Given the description of an element on the screen output the (x, y) to click on. 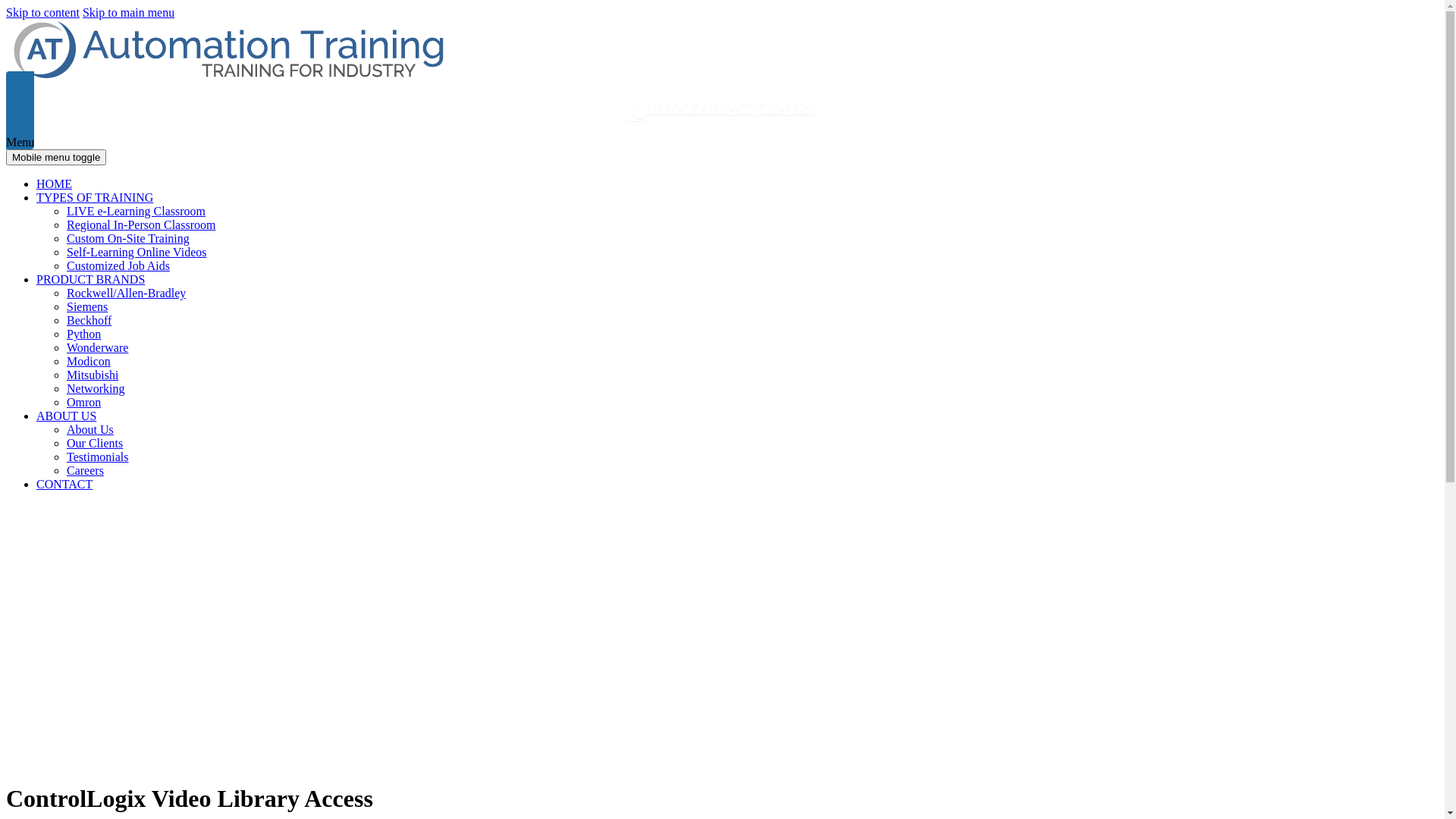
HOME Element type: text (54, 183)
LIVE e-Learning Classroom Element type: text (135, 210)
Python Element type: text (83, 333)
Self-Learning Online Videos Element type: text (136, 251)
Modicon Element type: text (88, 360)
Skip to main menu Element type: text (128, 12)
Customized Job Aids Element type: text (117, 265)
Custom On-Site Training Element type: text (127, 238)
Siemens Element type: text (86, 306)
Regional In-Person Classroom Element type: text (140, 224)
About Us Element type: text (89, 429)
Omron Element type: text (83, 401)
ABOUT US Element type: text (66, 415)
Skip to content Element type: text (42, 12)
Networking Element type: text (95, 388)
Our Clients Element type: text (94, 442)
Mitsubishi Element type: text (92, 374)
1-866-LEARN-AT (532-7628) Element type: text (722, 110)
Beckhoff Element type: text (88, 319)
TYPES OF TRAINING Element type: text (94, 197)
Testimonials Element type: text (97, 456)
Careers Element type: text (84, 470)
Automation Training Element type: hover (226, 78)
PRODUCT BRANDS Element type: text (90, 279)
Mobile menu toggle Element type: text (56, 157)
Wonderware Element type: text (97, 347)
Rockwell/Allen-Bradley Element type: text (125, 292)
CONTACT Element type: text (64, 483)
